Given the description of an element on the screen output the (x, y) to click on. 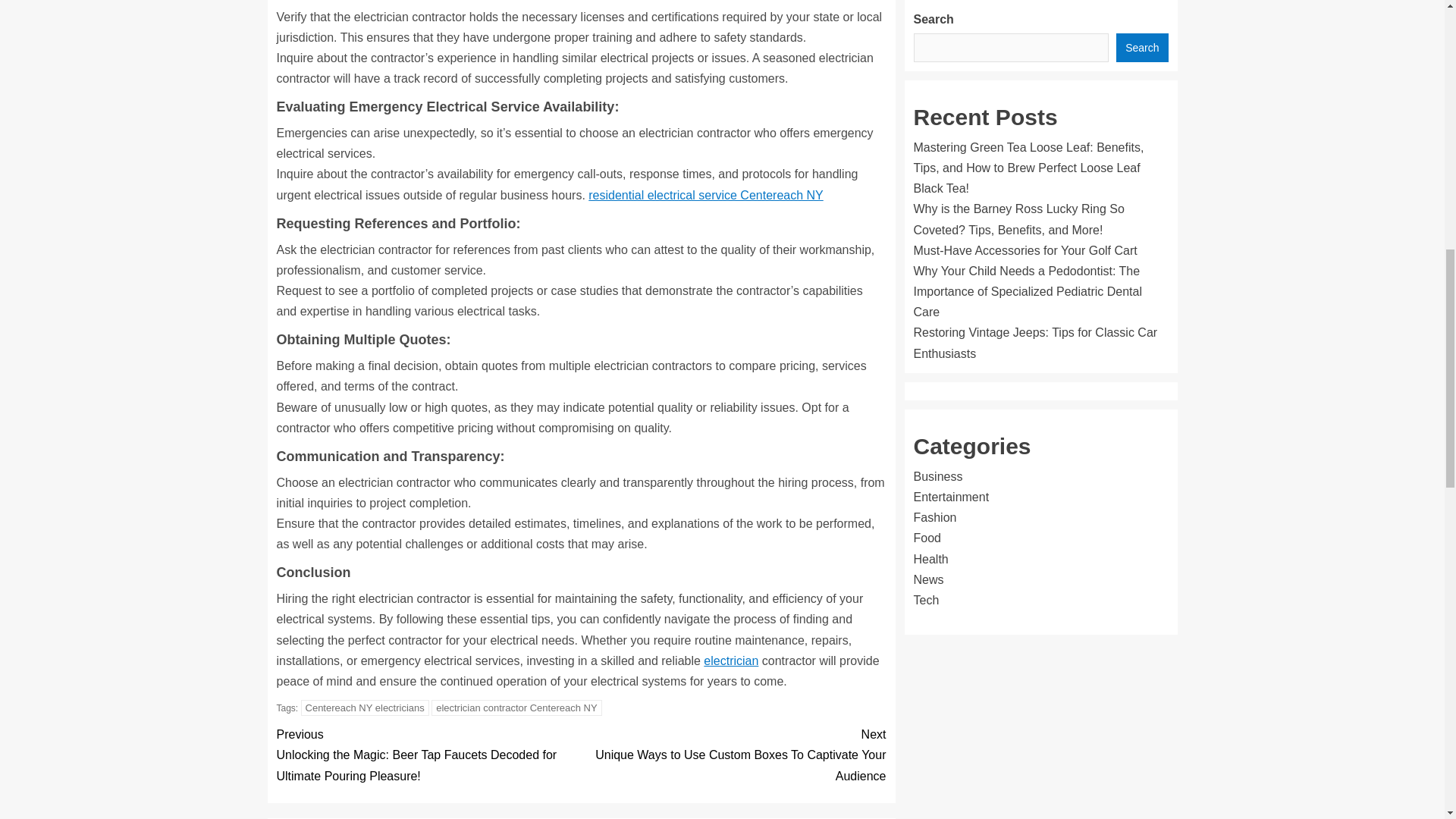
electrician (730, 660)
residential electrical service Centereach NY (705, 195)
Centereach NY electricians (365, 707)
electrician contractor Centereach NY (515, 707)
